Given the description of an element on the screen output the (x, y) to click on. 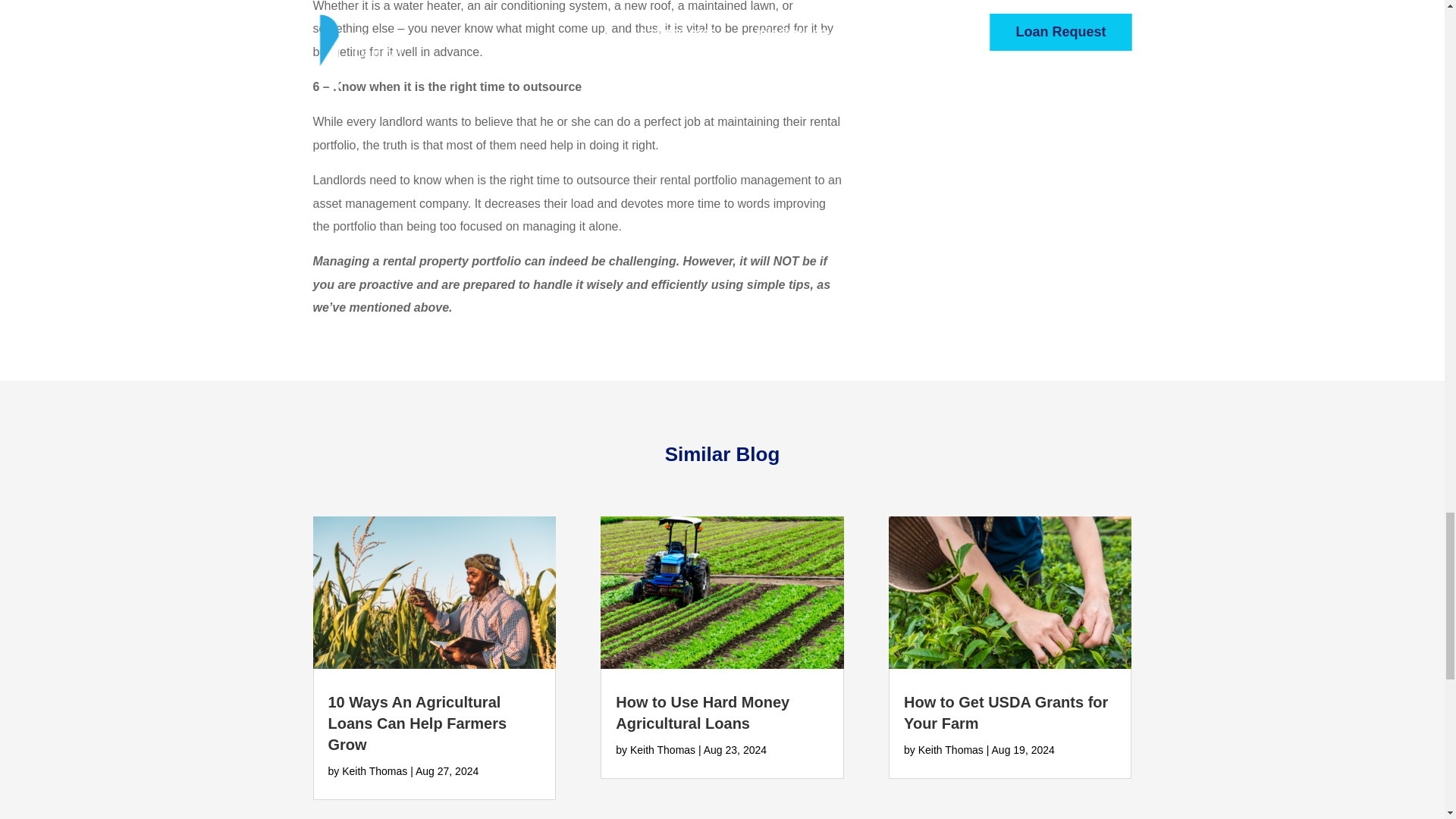
Posts by Keith Thomas (951, 749)
Posts by Keith Thomas (374, 770)
Posts by Keith Thomas (662, 749)
Keith Thomas (951, 749)
Keith Thomas (374, 770)
How to Get USDA Grants for Your Farm (1006, 712)
10 Ways An Agricultural Loans Can Help Farmers Grow (416, 722)
Keith Thomas (662, 749)
How to Use Hard Money Agricultural Loans (702, 712)
